Given the description of an element on the screen output the (x, y) to click on. 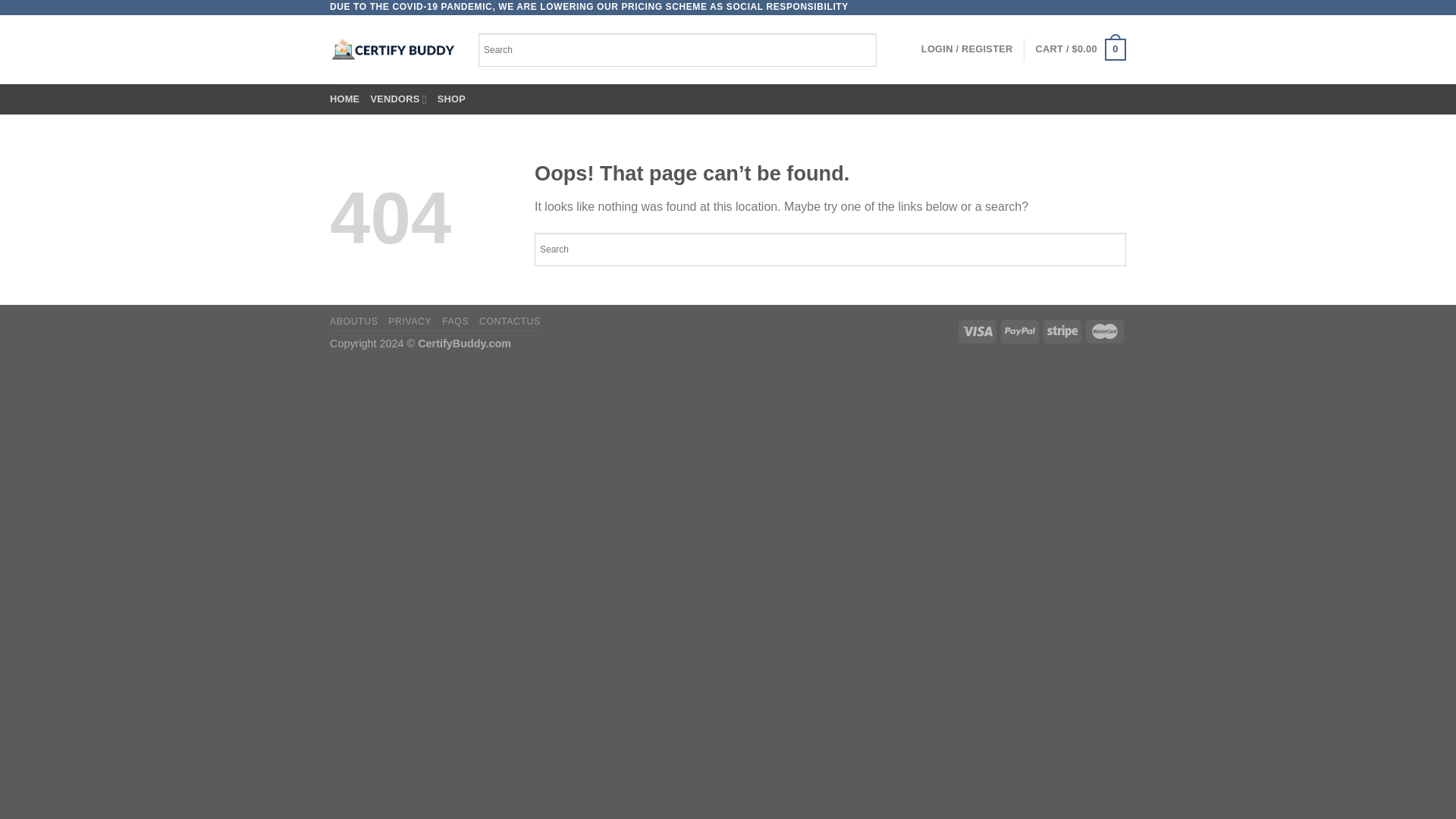
VENDORS (397, 99)
CONTACTUS (509, 321)
SHOP (451, 99)
Cart (1080, 49)
CertifyBuddy - One Stop Solution to All Your Exam Needs (392, 49)
PRIVACY (409, 321)
FAQS (455, 321)
HOME (344, 99)
ABOUTUS (353, 321)
